Given the description of an element on the screen output the (x, y) to click on. 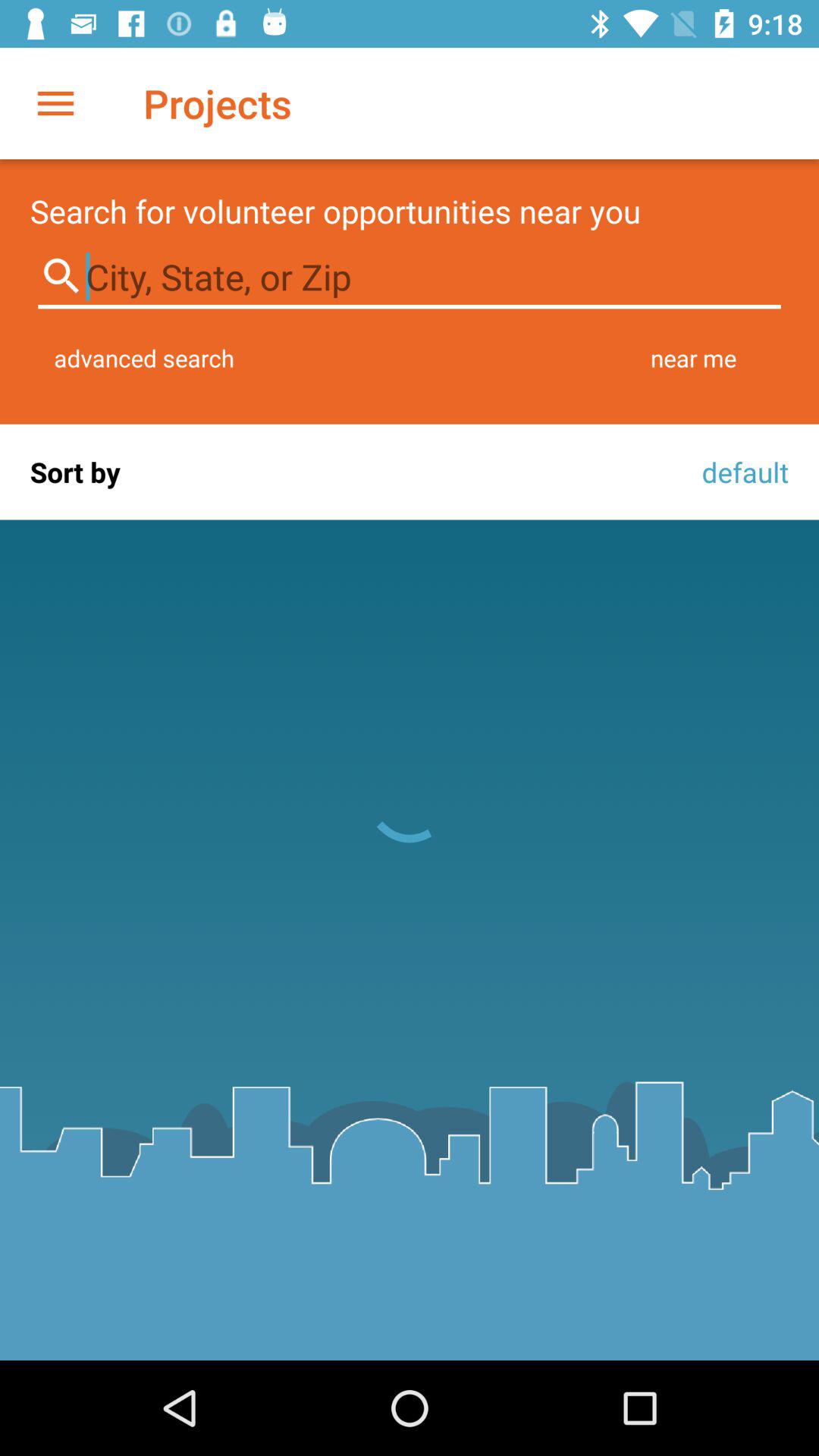
tap the icon next to near me item (144, 358)
